Given the description of an element on the screen output the (x, y) to click on. 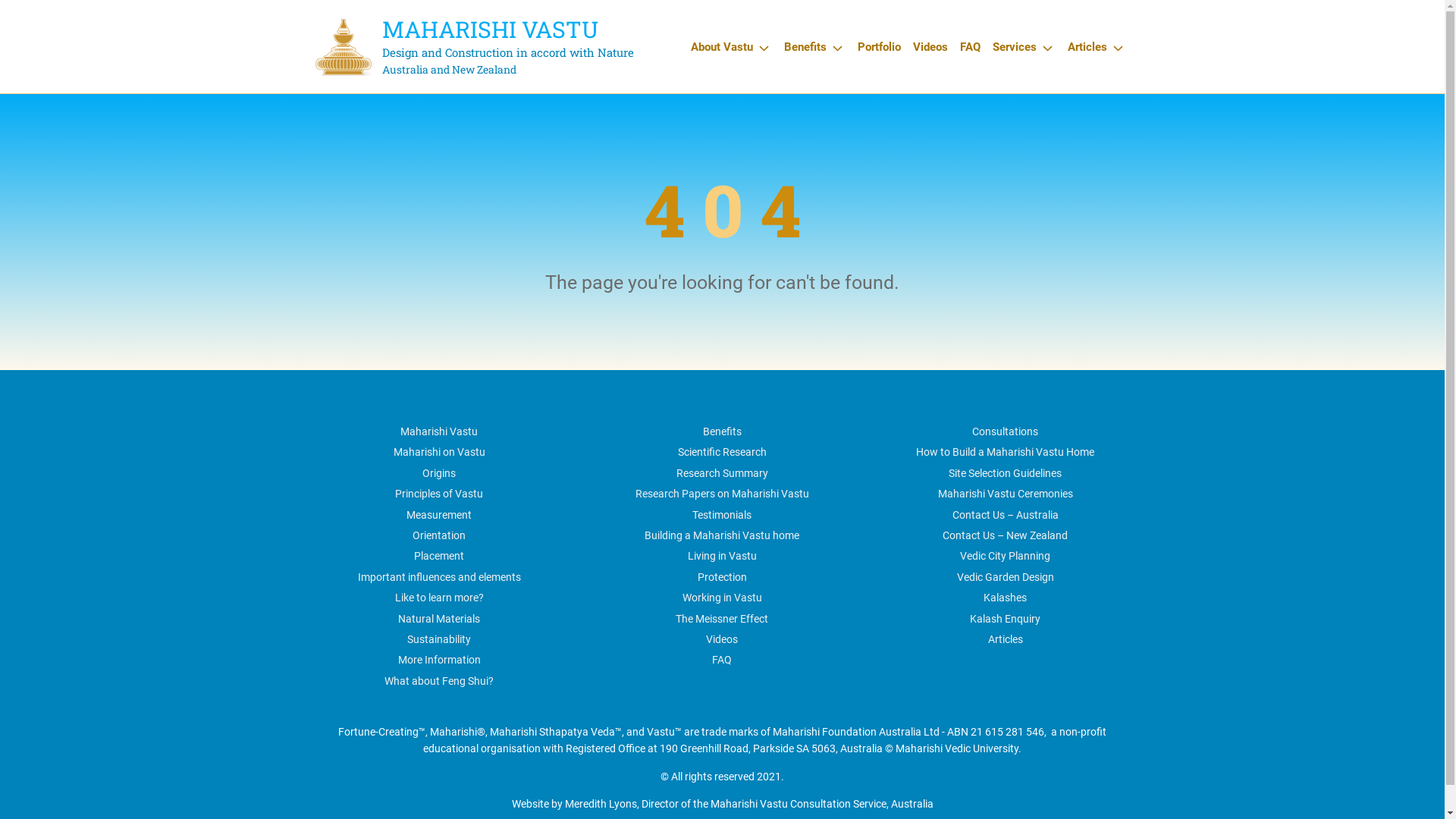
Maharishi on Vastu Element type: text (439, 451)
Scientific Research Element type: text (721, 451)
Maharishi Vastu Element type: text (438, 431)
Consultations Element type: text (1005, 431)
FAQ Element type: text (721, 659)
Research Papers on Maharishi Vastu Element type: text (722, 493)
The Meissner Effect Element type: text (721, 618)
Site Selection Guidelines Element type: text (1004, 473)
Placement Element type: text (439, 555)
Protection Element type: text (721, 577)
Natural Materials Element type: text (439, 618)
Vedic Garden Design Element type: text (1005, 577)
Kalashes Element type: text (1004, 597)
About Vastu Element type: text (730, 46)
FAQ Element type: text (969, 46)
Vedic City Planning Element type: text (1005, 555)
Maharishi Vastu Ceremonies Element type: text (1005, 493)
Research Summary Element type: text (722, 473)
Articles Element type: text (1096, 46)
Portfolio Element type: text (878, 46)
Videos Element type: text (929, 46)
Important influences and elements Element type: text (438, 577)
Videos Element type: text (721, 639)
What about Feng Shui? Element type: text (438, 680)
Services Element type: text (1022, 46)
Origins Element type: text (438, 473)
Working in Vastu Element type: text (722, 597)
Testimonials Element type: text (721, 514)
Building a Maharishi Vastu home Element type: text (721, 535)
Articles Element type: text (1005, 639)
Principles of Vastu Element type: text (439, 493)
Orientation Element type: text (438, 535)
Like to learn more? Element type: text (439, 597)
Measurement Element type: text (438, 514)
Sustainability Element type: text (438, 639)
Living in Vastu Element type: text (721, 555)
How to Build a Maharishi Vastu Home Element type: text (1005, 451)
Benefits Element type: text (814, 46)
Kalash Enquiry Element type: text (1004, 618)
More Information Element type: text (439, 659)
Benefits Element type: text (721, 431)
